Given the description of an element on the screen output the (x, y) to click on. 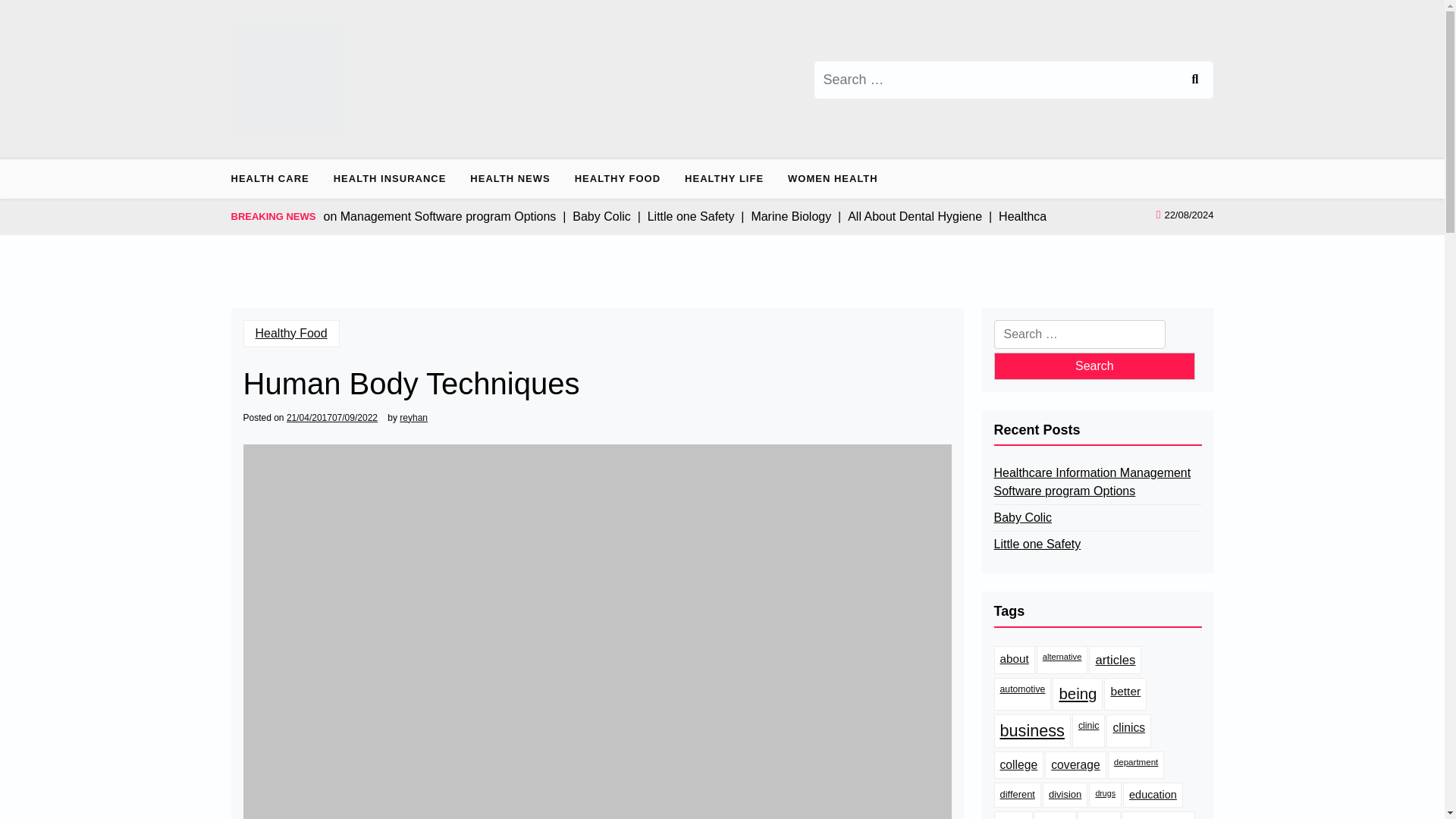
clinics (1128, 730)
Search (1193, 78)
better (1125, 694)
automotive (1021, 694)
Healthcare Information Management Software program Options (1096, 482)
about (1012, 660)
Search (1093, 365)
HEALTHY FOOD (617, 178)
HEALTH CARE (275, 178)
HEALTH INSURANCE (389, 178)
